Given the description of an element on the screen output the (x, y) to click on. 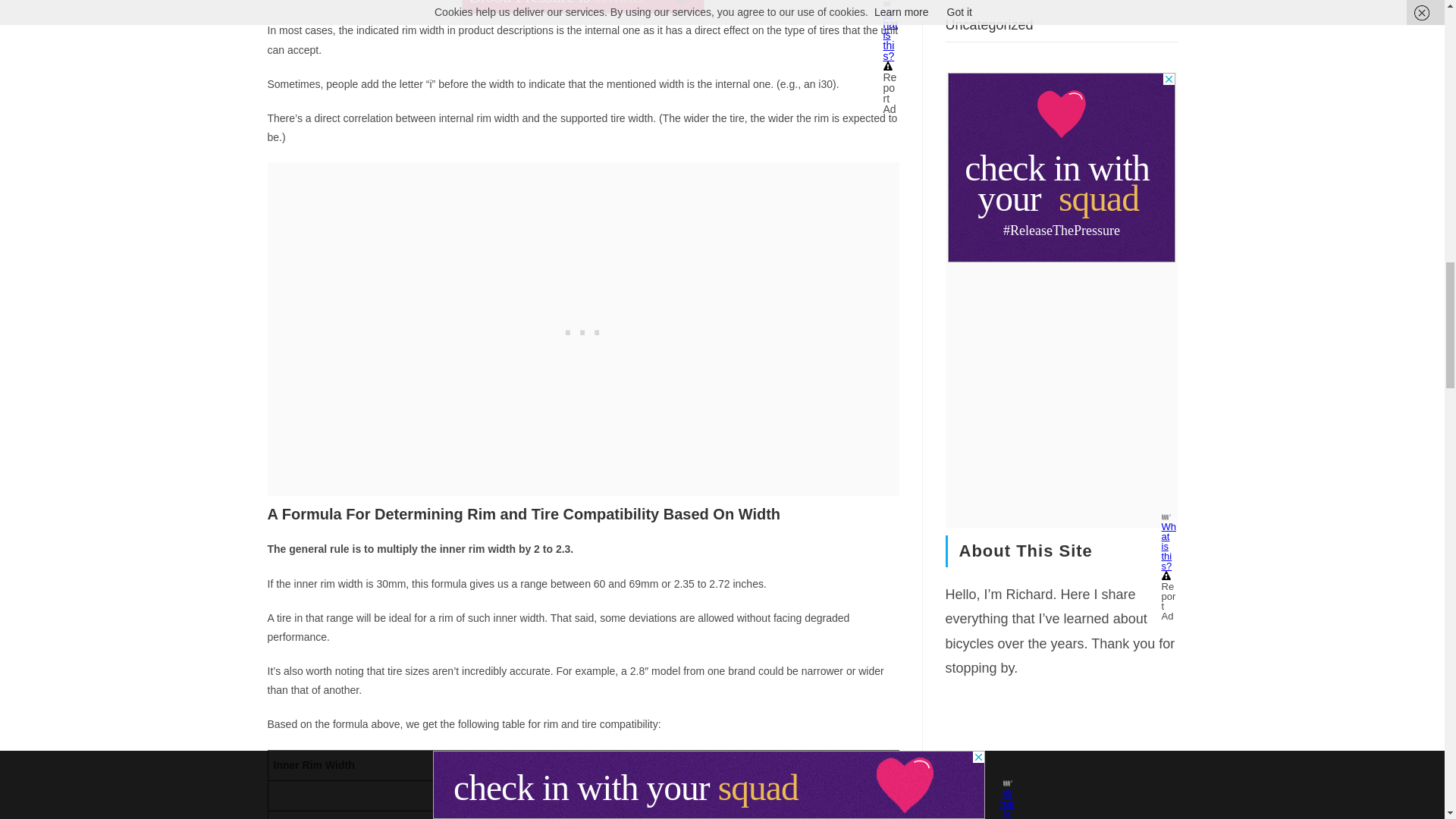
3rd party ad content (1060, 167)
